Given the description of an element on the screen output the (x, y) to click on. 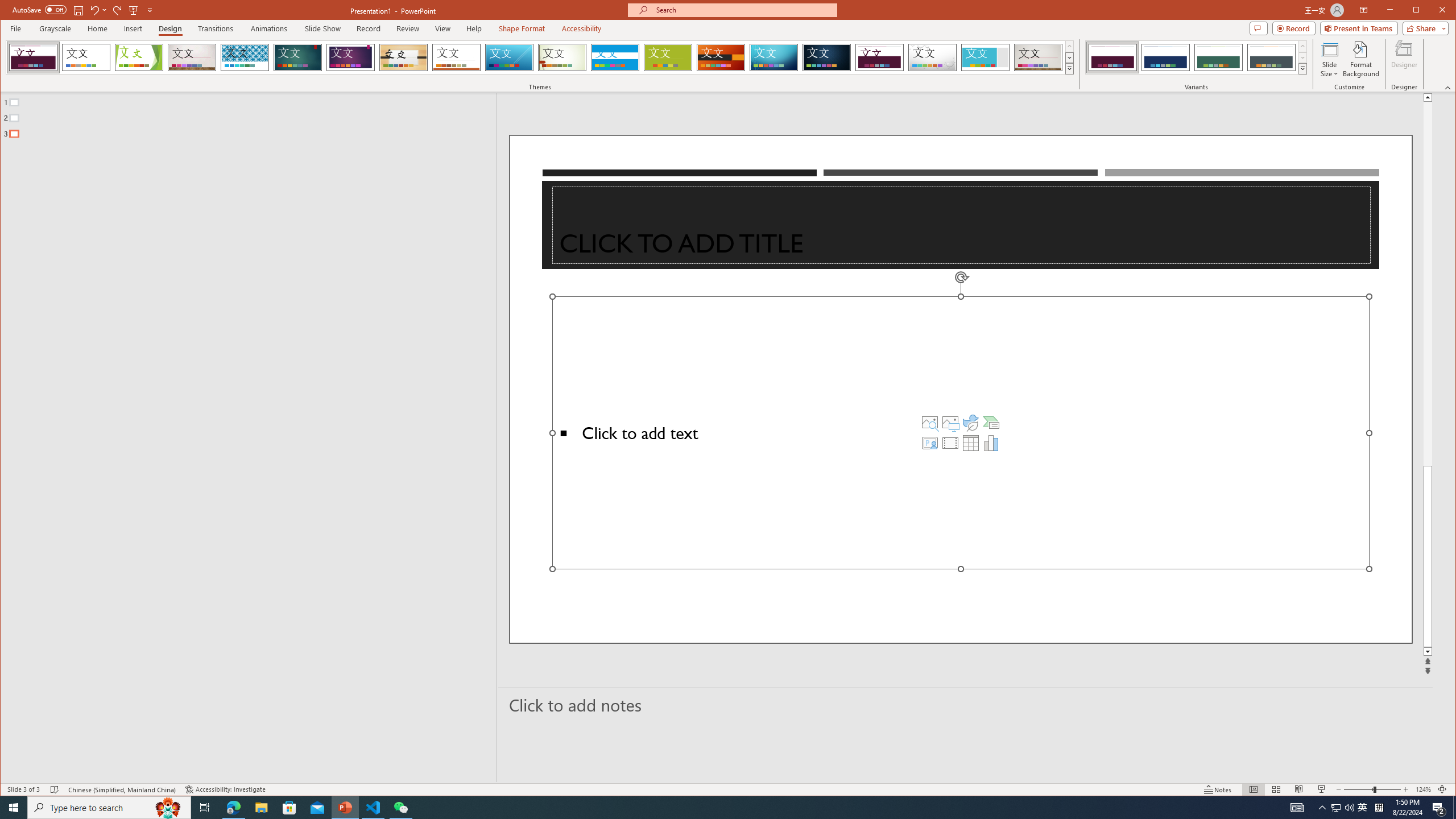
Content Placeholder (960, 432)
Retrospect (456, 57)
Organic (403, 57)
